Given the description of an element on the screen output the (x, y) to click on. 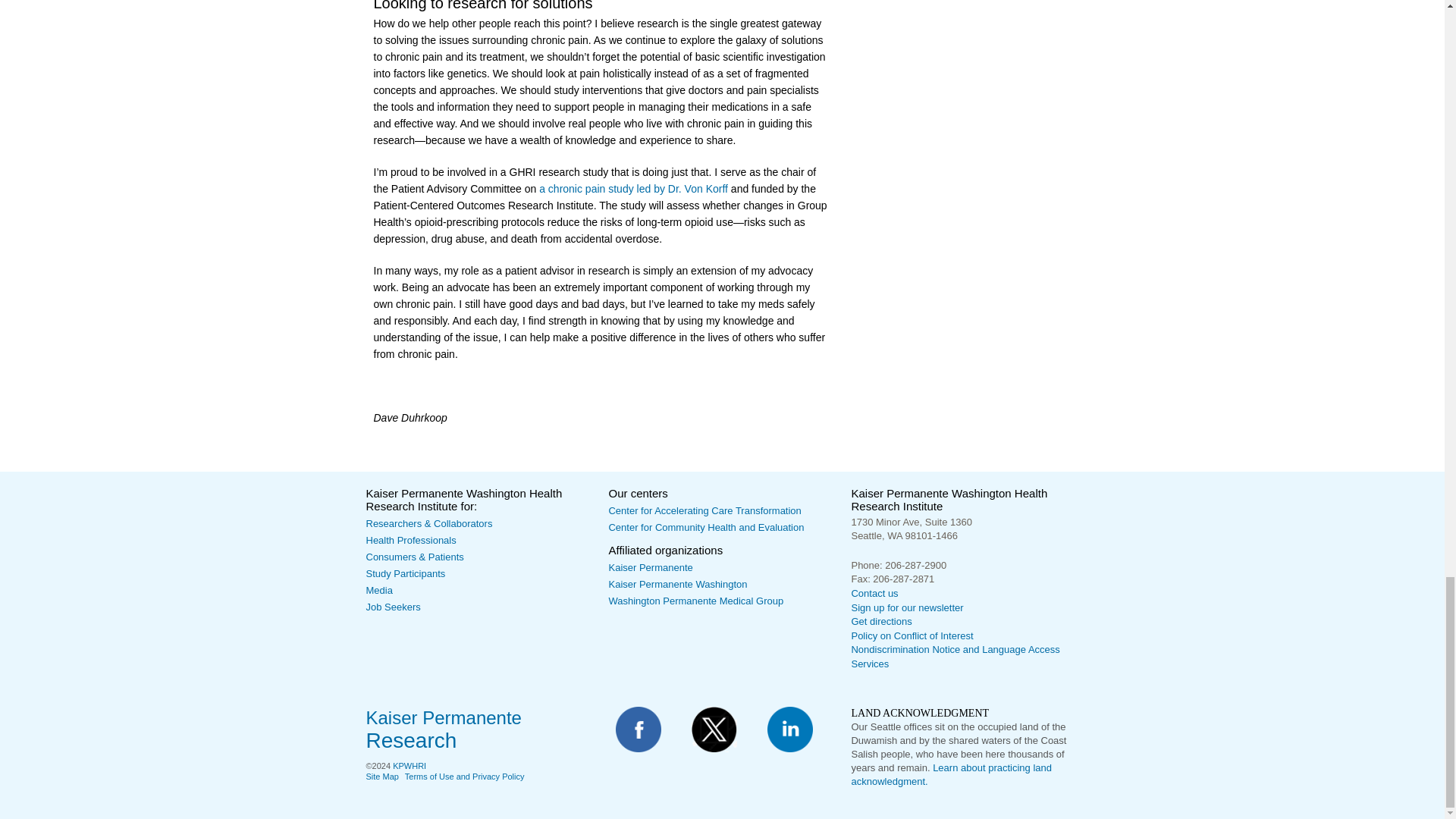
Career Opportunities (392, 606)
Live Healthy (414, 556)
For the Media (378, 590)
Contact Us (874, 593)
Sitemap (381, 776)
Directions to Research Institute (880, 621)
Participate in a Study (405, 573)
Health Professionals (410, 540)
GHRI-Nondiscrimination-Notice-Language-Access-Services.pdf (954, 656)
Sign up (906, 607)
